Given the description of an element on the screen output the (x, y) to click on. 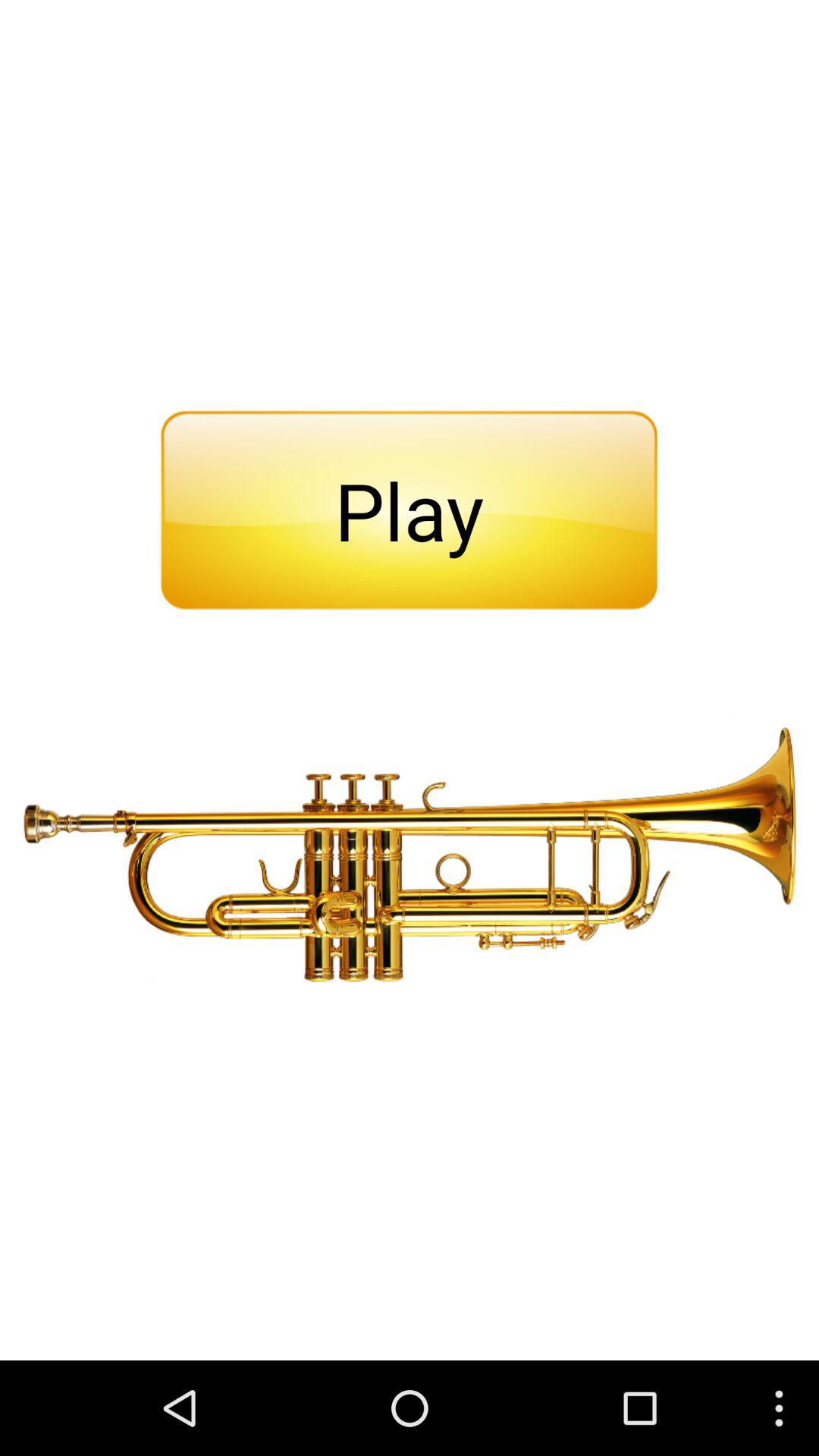
scroll to the play button (409, 509)
